Given the description of an element on the screen output the (x, y) to click on. 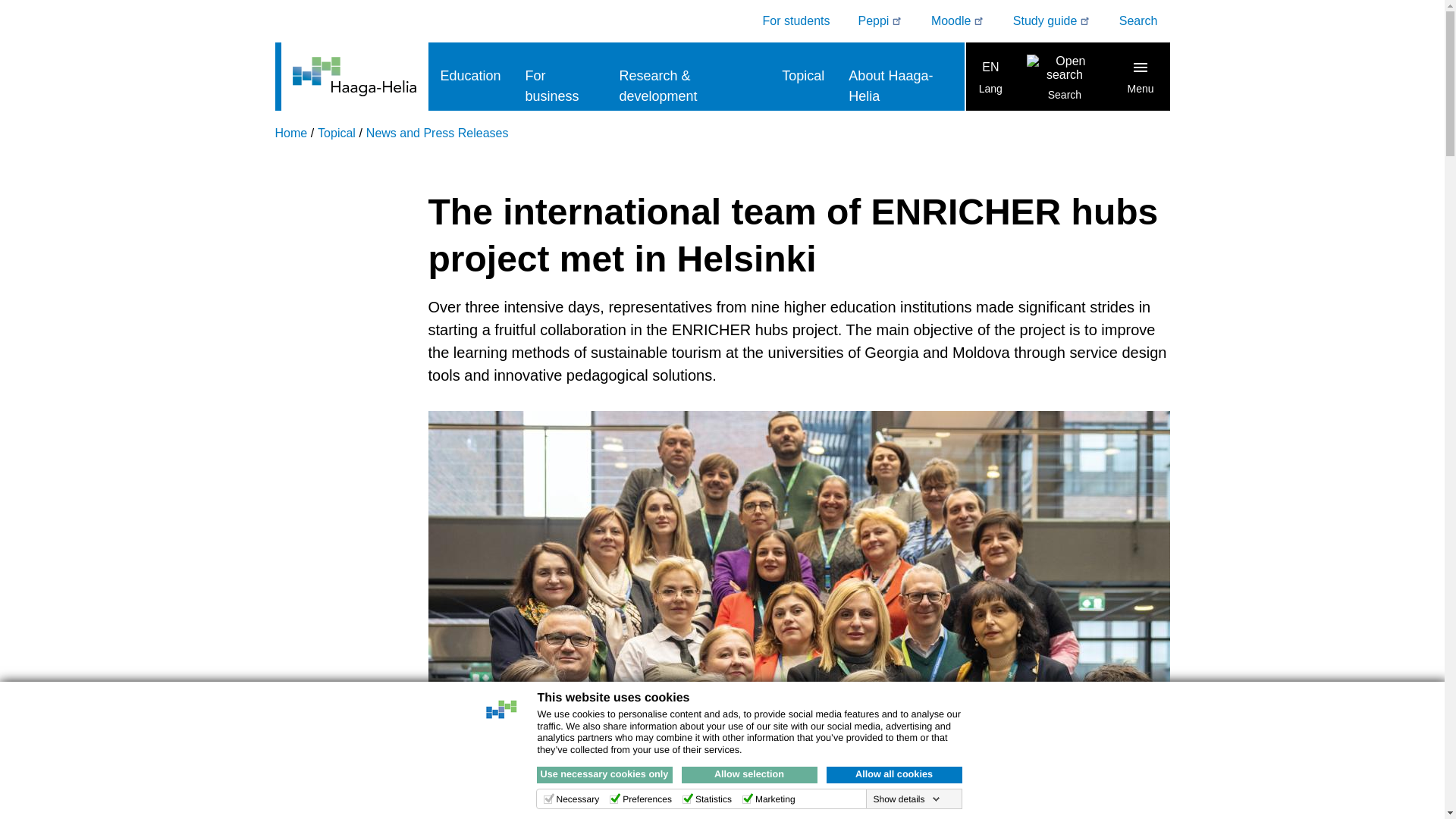
Allow all cookies (894, 774)
Show details (905, 799)
Use necessary cookies only (604, 774)
Allow selection (748, 774)
